Given the description of an element on the screen output the (x, y) to click on. 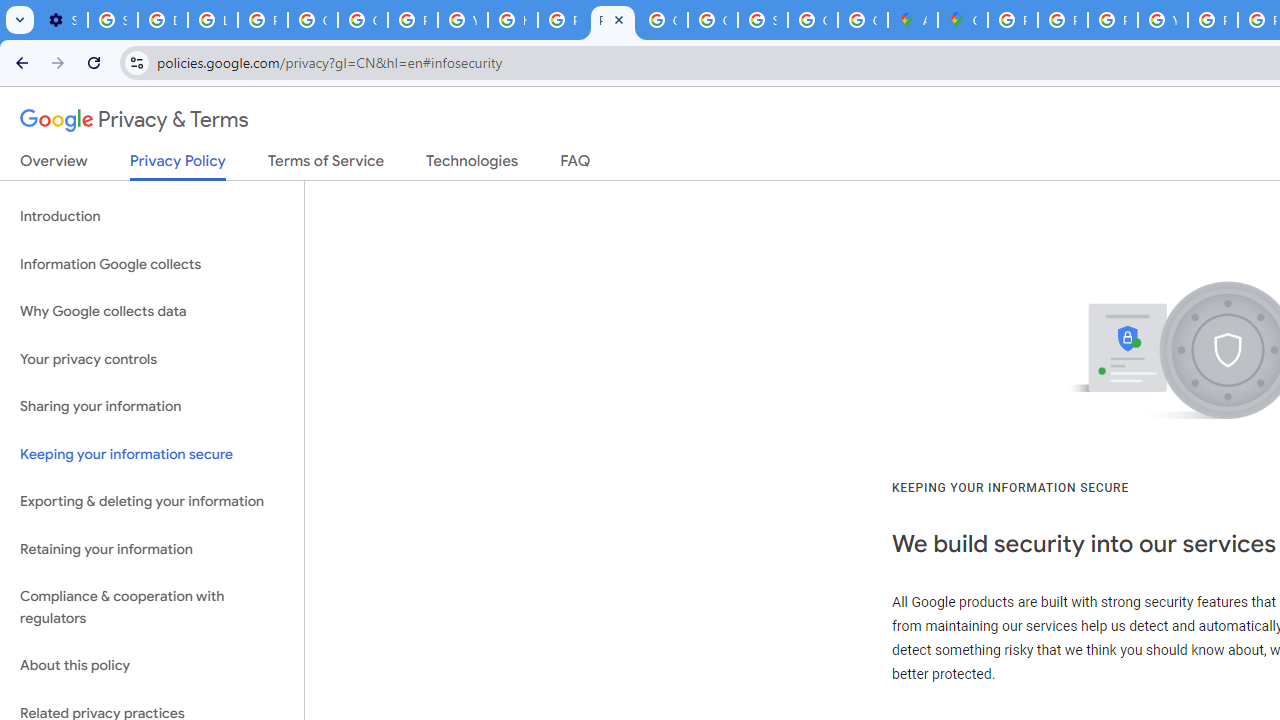
Sharing your information (152, 407)
Sign in - Google Accounts (113, 20)
